Given the description of an element on the screen output the (x, y) to click on. 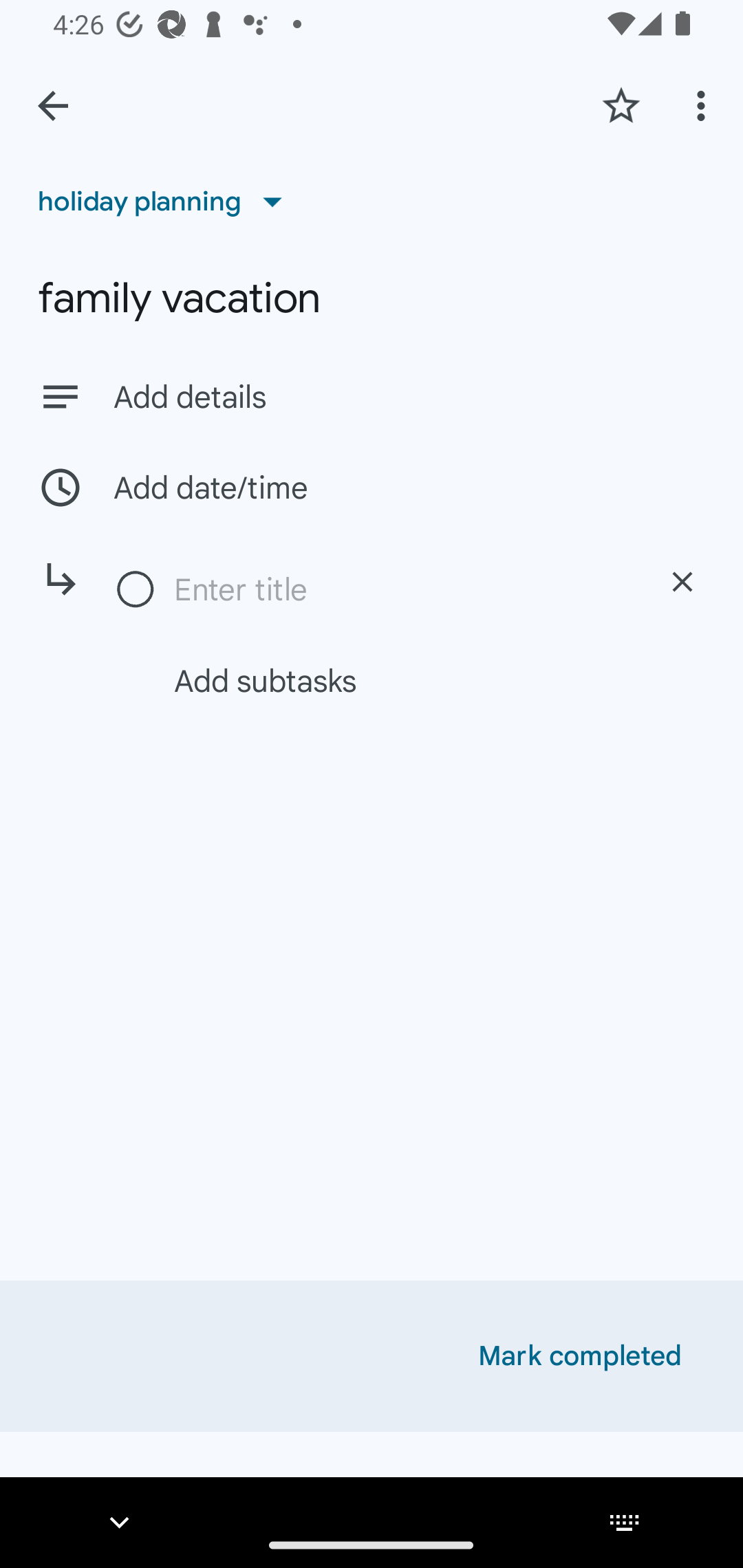
Back (53, 105)
Add star (620, 105)
More options (704, 105)
family vacation (371, 298)
Add details (371, 396)
Add details (409, 397)
Add date/time (371, 487)
Enter title (401, 589)
Delete subtask (682, 581)
Mark as complete (136, 590)
Add subtasks (394, 680)
Mark completed (580, 1355)
